Given the description of an element on the screen output the (x, y) to click on. 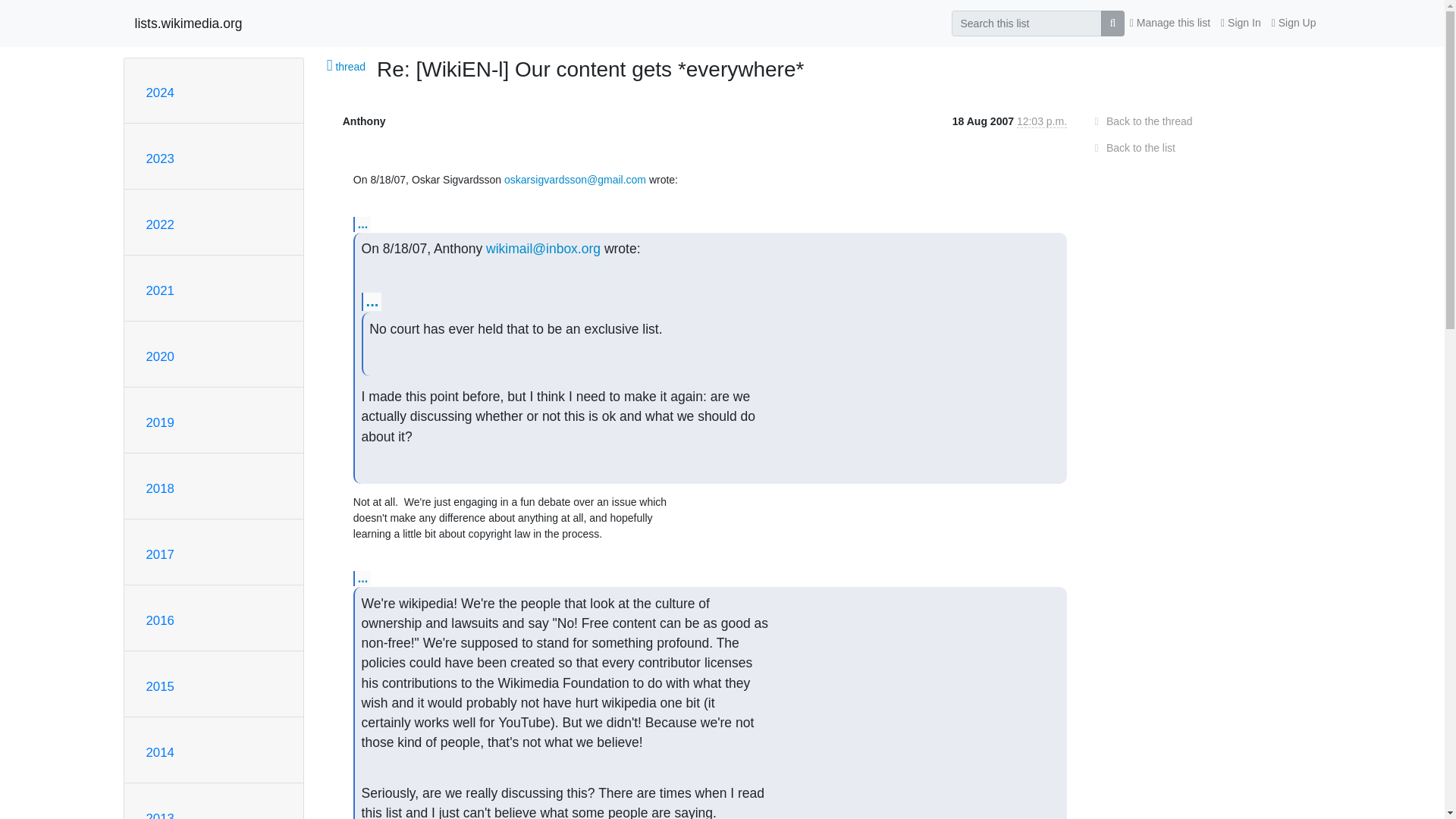
lists.wikimedia.org (189, 22)
Sender's time: Aug. 18, 2007, 1:03 p.m. (1041, 121)
2023 (159, 158)
2024 (159, 92)
Sign In (1240, 22)
Manage this list (1169, 22)
Sign Up (1294, 22)
2022 (159, 224)
